Given the description of an element on the screen output the (x, y) to click on. 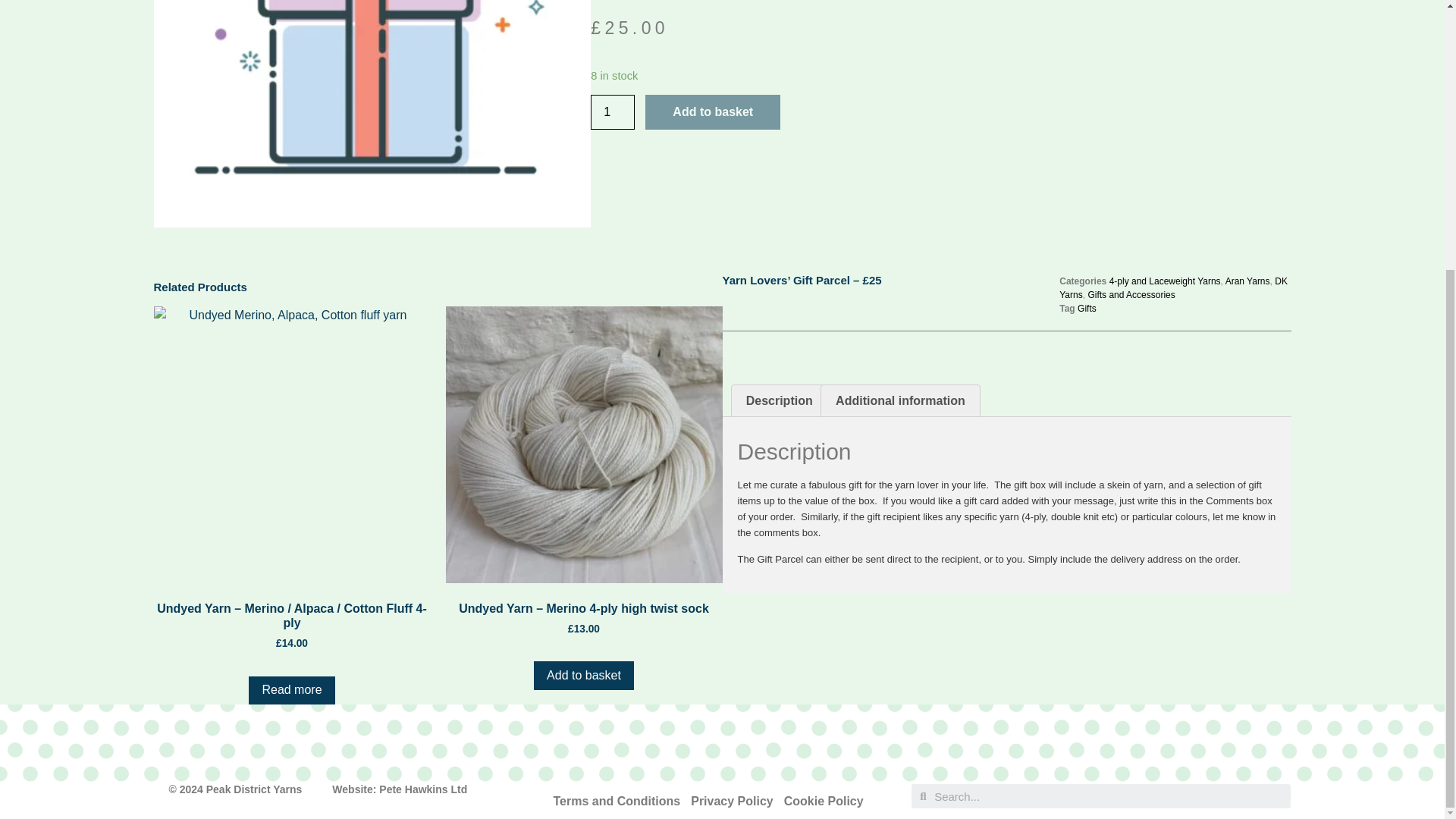
Gift Parcel (371, 113)
1 (612, 112)
